Given the description of an element on the screen output the (x, y) to click on. 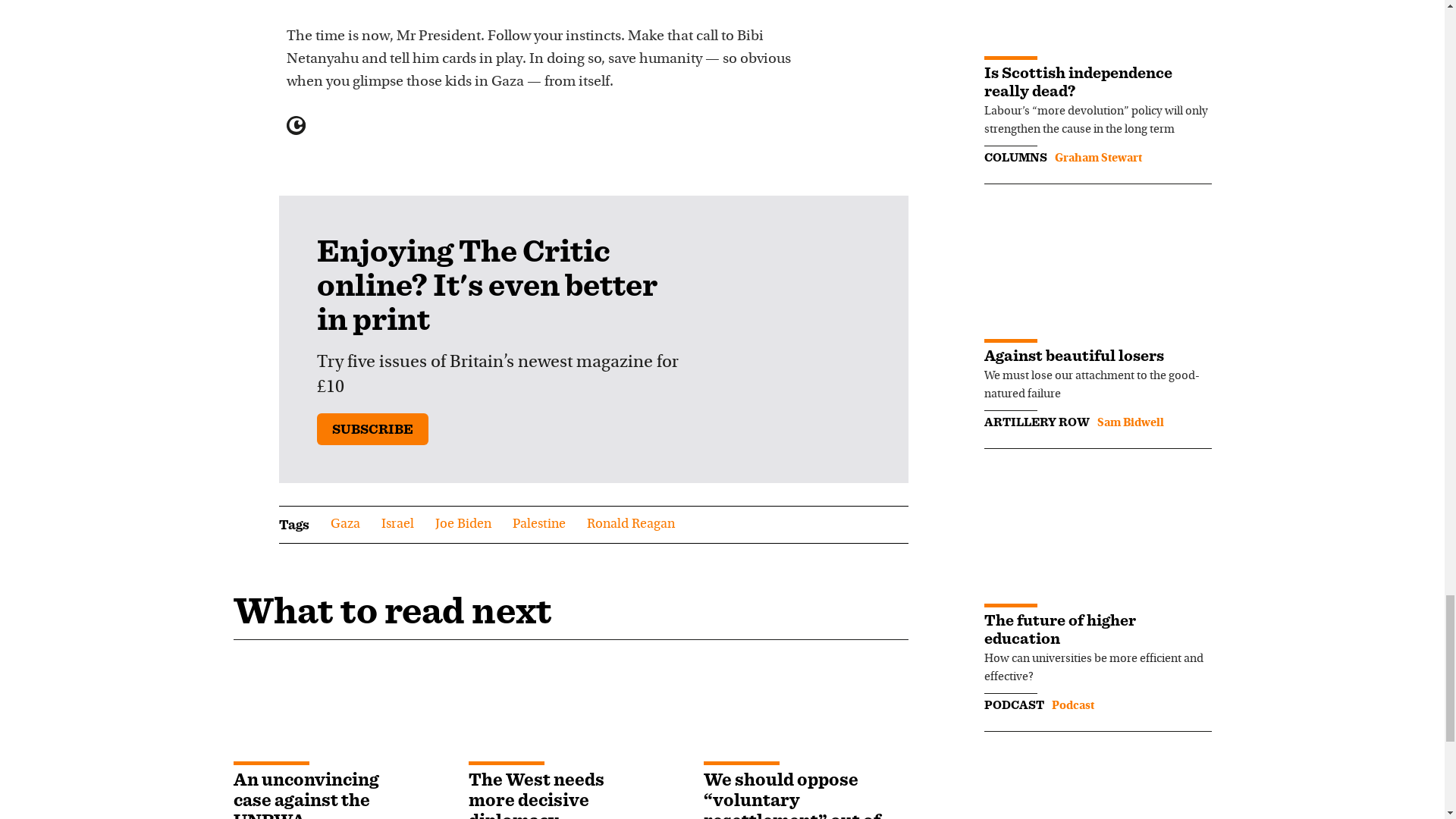
SUBSCRIBE (372, 429)
An unconvincing case against the UNRWA (305, 793)
Posts by Graham Stewart (1097, 158)
Israel (396, 524)
Posts by Podcast (1072, 705)
Palestine (539, 524)
Posts by Sam Bidwell (1129, 422)
Gaza (344, 524)
Ronald Reagan (630, 524)
Joe Biden (463, 524)
